Given the description of an element on the screen output the (x, y) to click on. 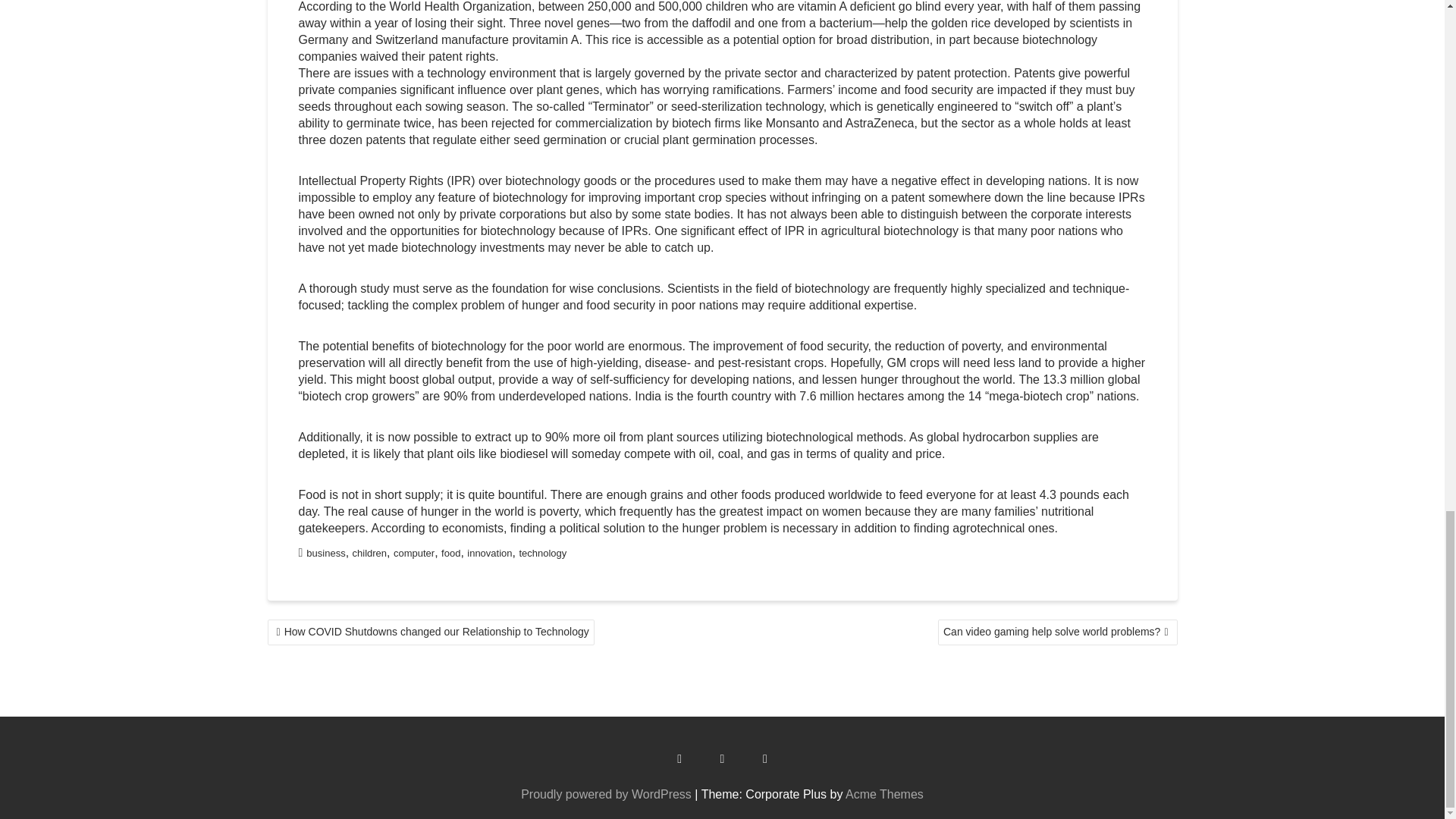
food (450, 552)
How COVID Shutdowns changed our Relationship to Technology (430, 632)
children (369, 552)
innovation (489, 552)
computer (413, 552)
Proudly powered by WordPress (606, 793)
business (325, 552)
Acme Themes (884, 793)
technology (542, 552)
Can video gaming help solve world problems? (1057, 632)
